Given the description of an element on the screen output the (x, y) to click on. 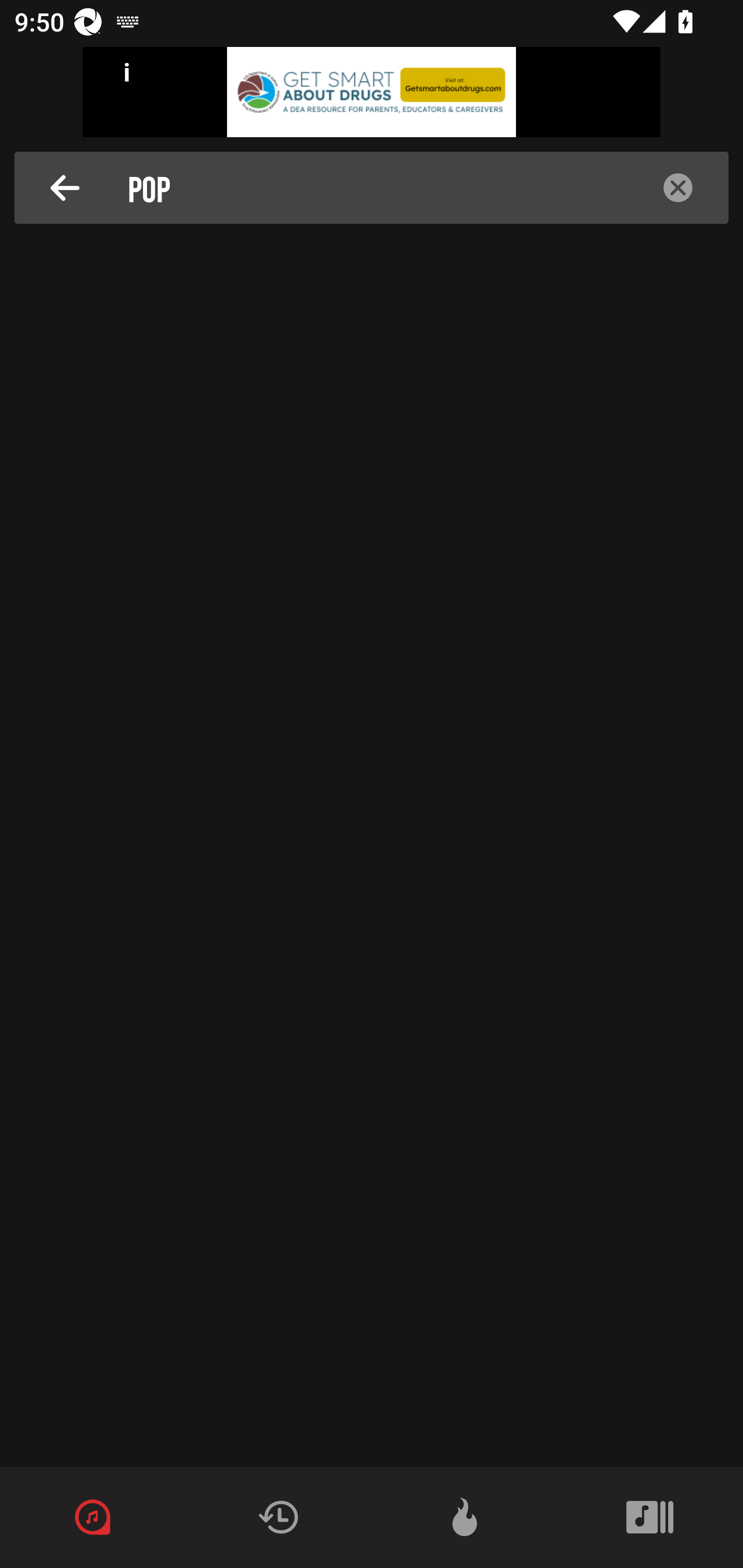
Pop (377, 188)
Description (64, 188)
Description (677, 188)
